Given the description of an element on the screen output the (x, y) to click on. 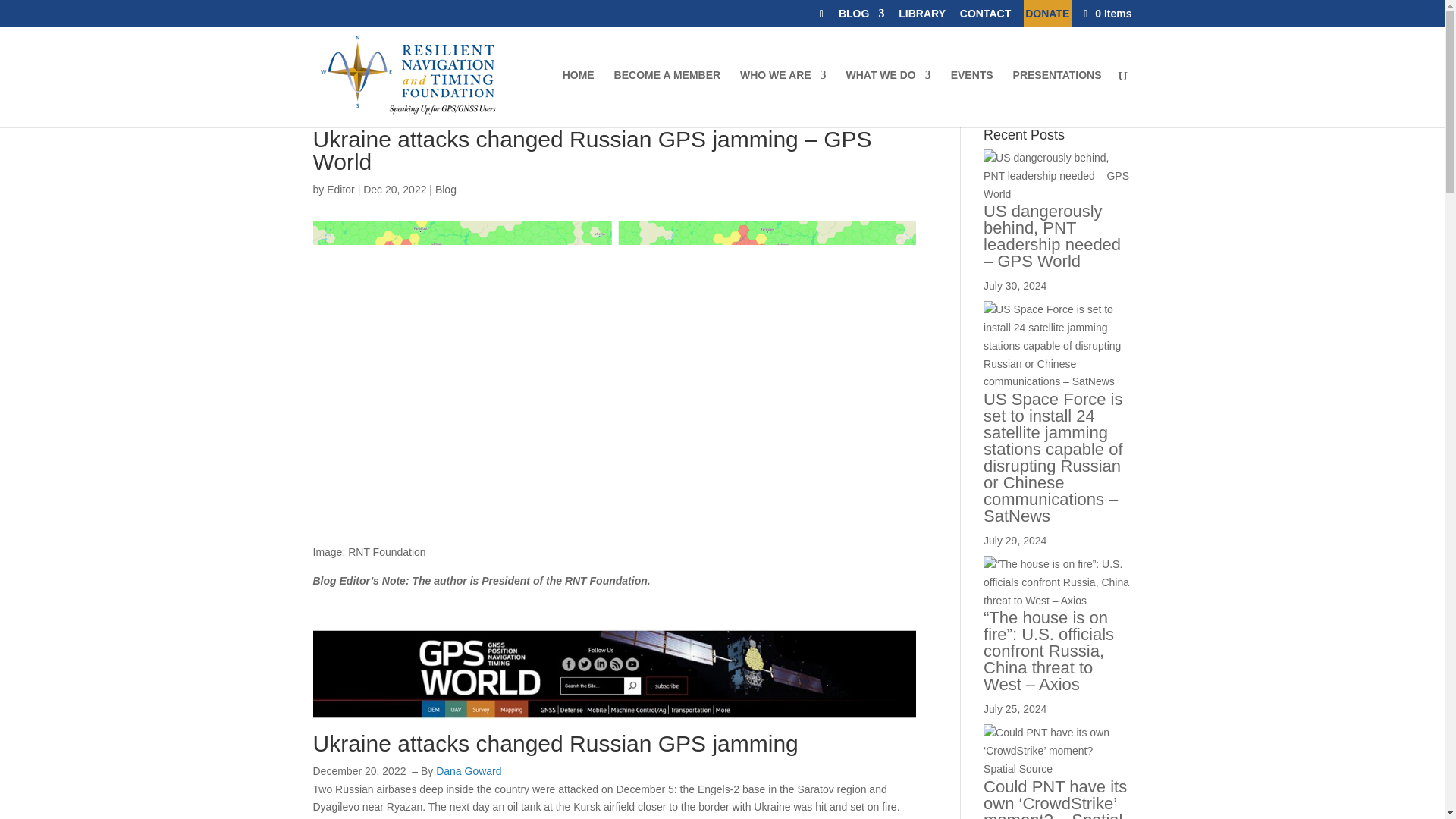
Posts by Editor (340, 189)
Posts by Dana Goward (467, 770)
LIBRARY (921, 16)
PRESENTATIONS (1057, 98)
BLOG (860, 16)
Blog (446, 189)
CONTACT (984, 16)
Ukraine attacks changed Russian GPS jamming (555, 743)
BECOME A MEMBER (667, 98)
